Given the description of an element on the screen output the (x, y) to click on. 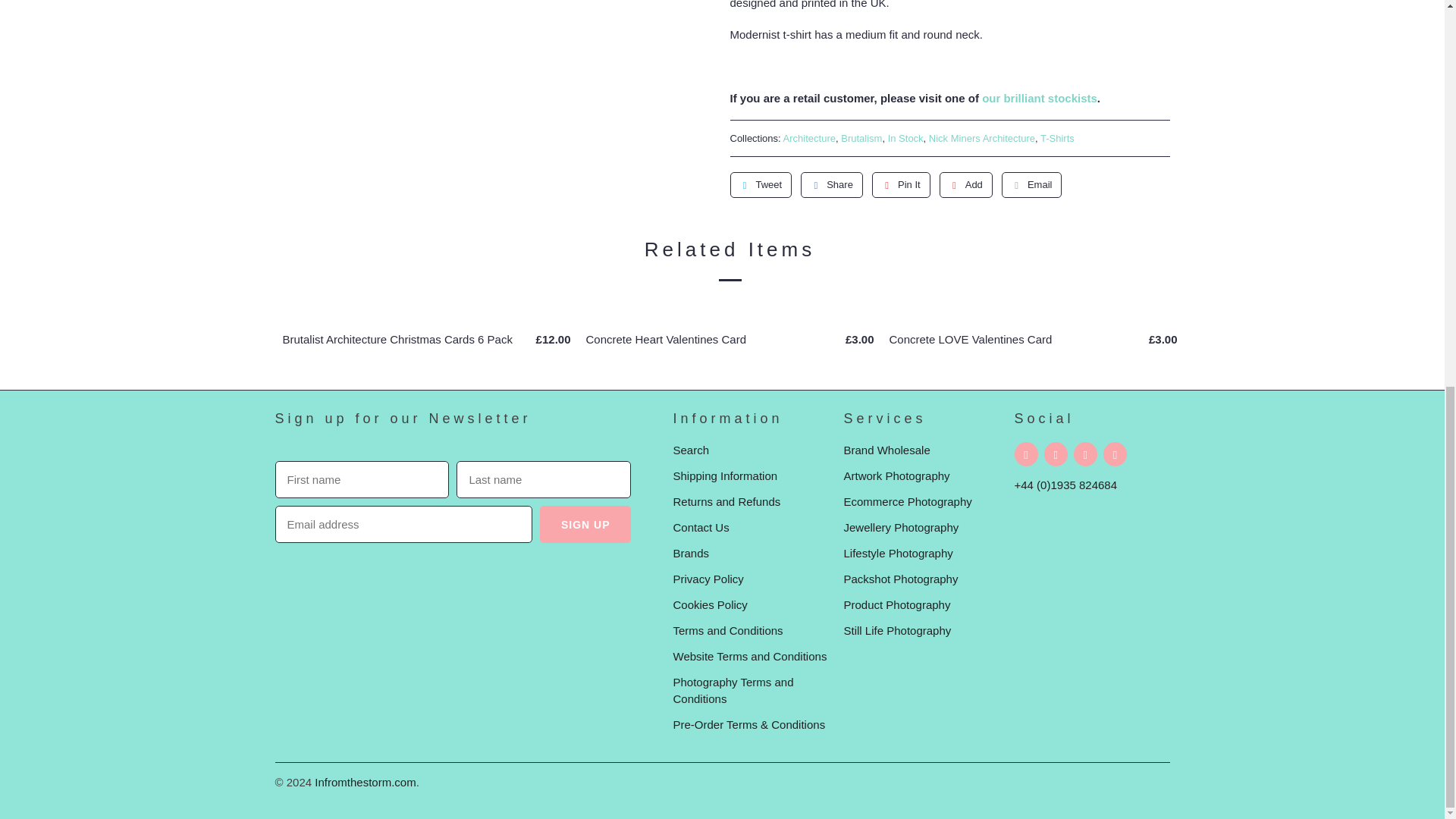
In Stock (905, 138)
Sign Up (585, 524)
Email this to a friend (1031, 184)
Share this on Pinterest (901, 184)
T-Shirts (1057, 138)
Brutalism (861, 138)
Nick Miners Architecture (981, 138)
Architecture (809, 138)
Share this on Facebook (831, 184)
Share this on Twitter (760, 184)
